Given the description of an element on the screen output the (x, y) to click on. 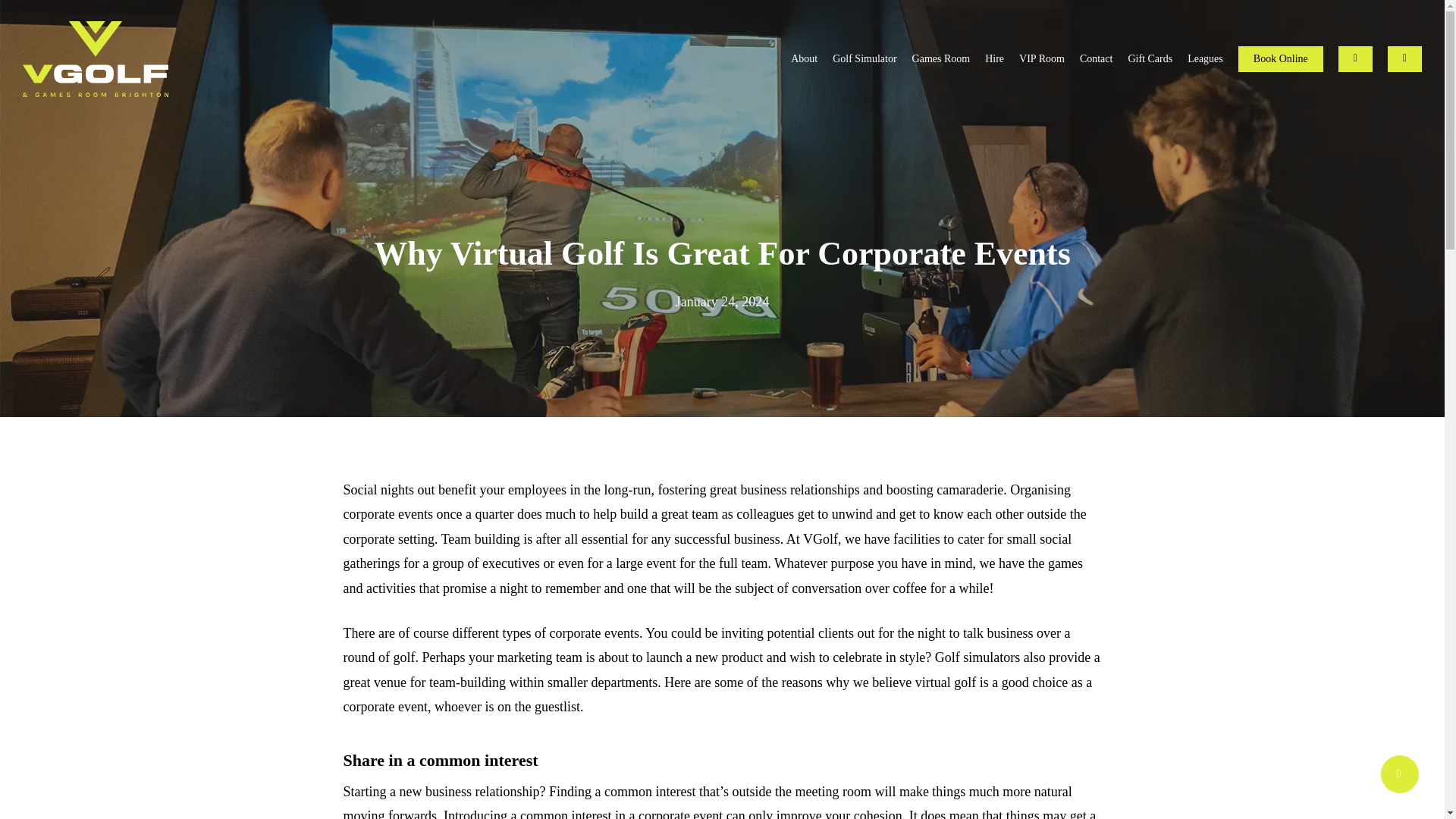
Book Online (1281, 58)
Hire (994, 58)
Gift Cards (1149, 58)
VIP Room (1041, 58)
About (803, 58)
Leagues (1205, 58)
Contact (1096, 58)
Golf Simulator (864, 58)
Games Room (941, 58)
